Given the description of an element on the screen output the (x, y) to click on. 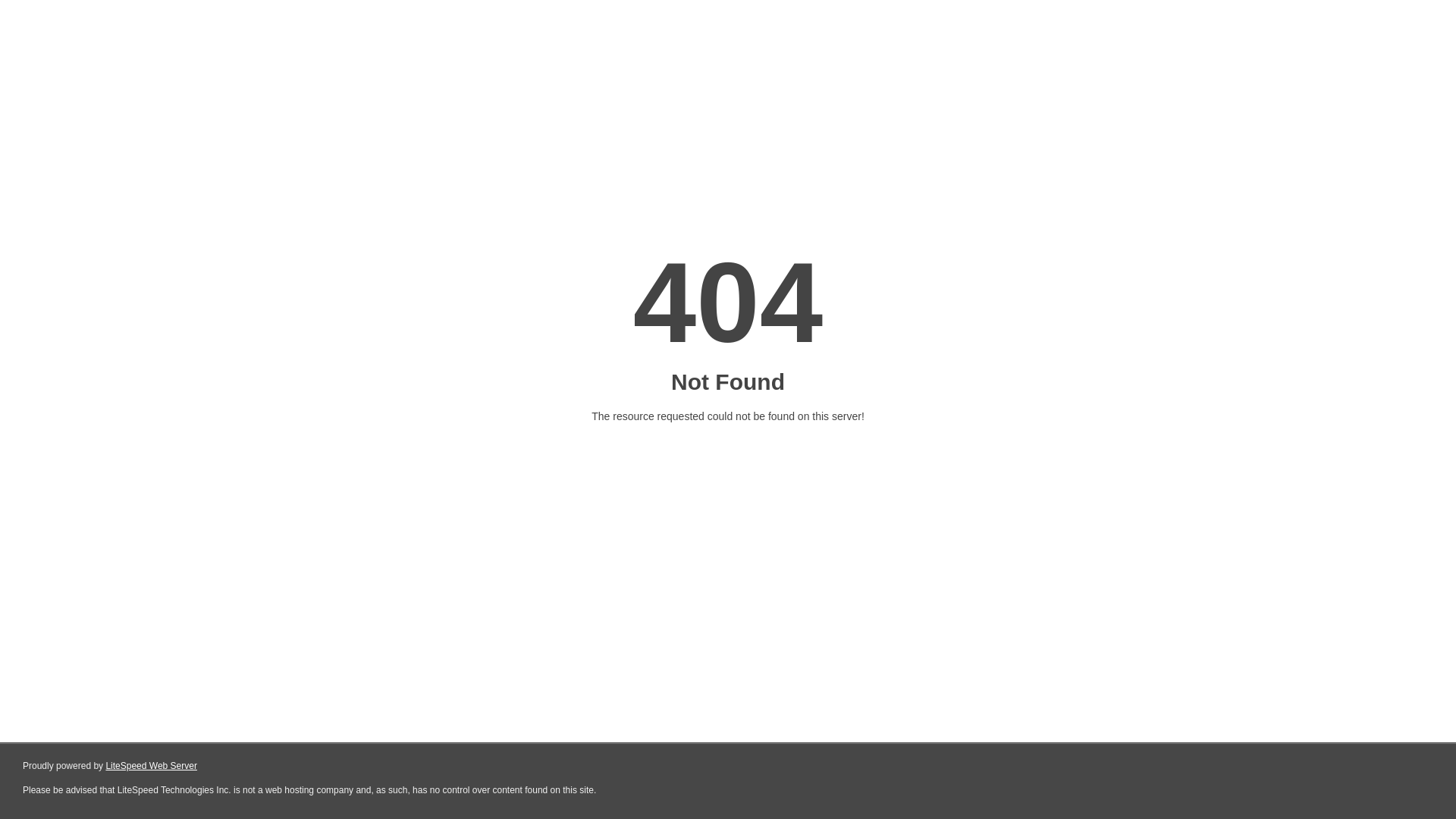
LiteSpeed Web Server Element type: text (151, 765)
